Given the description of an element on the screen output the (x, y) to click on. 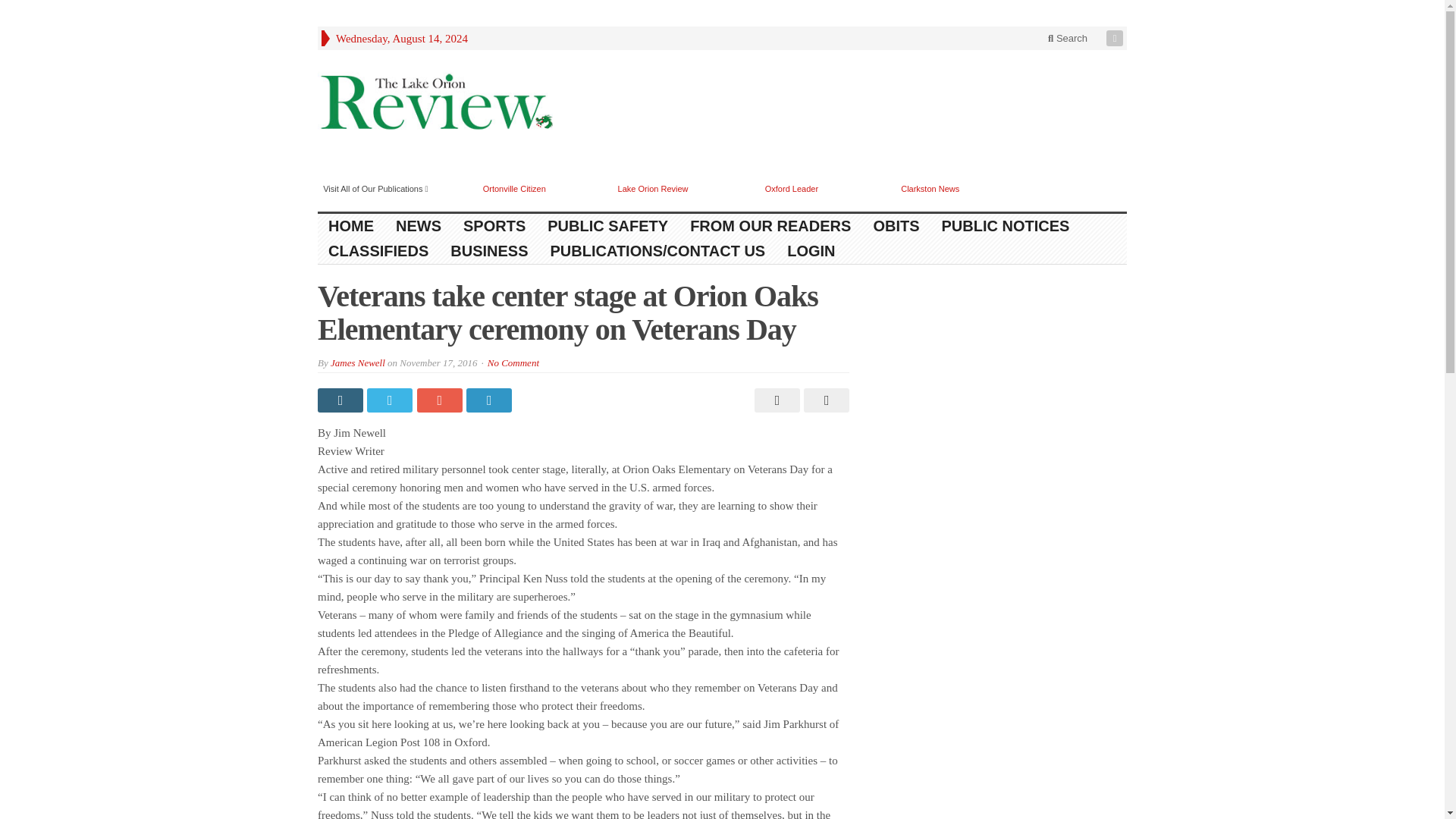
Serving Lake Orion Michigan (435, 103)
Share on Facebook (341, 400)
Clarkston News (930, 188)
James Newell (357, 362)
PUBLIC NOTICES (1006, 226)
OBITS (895, 226)
Oxford Leader (791, 188)
HOME (351, 226)
Send by Email (823, 400)
BUSINESS (488, 251)
